Given the description of an element on the screen output the (x, y) to click on. 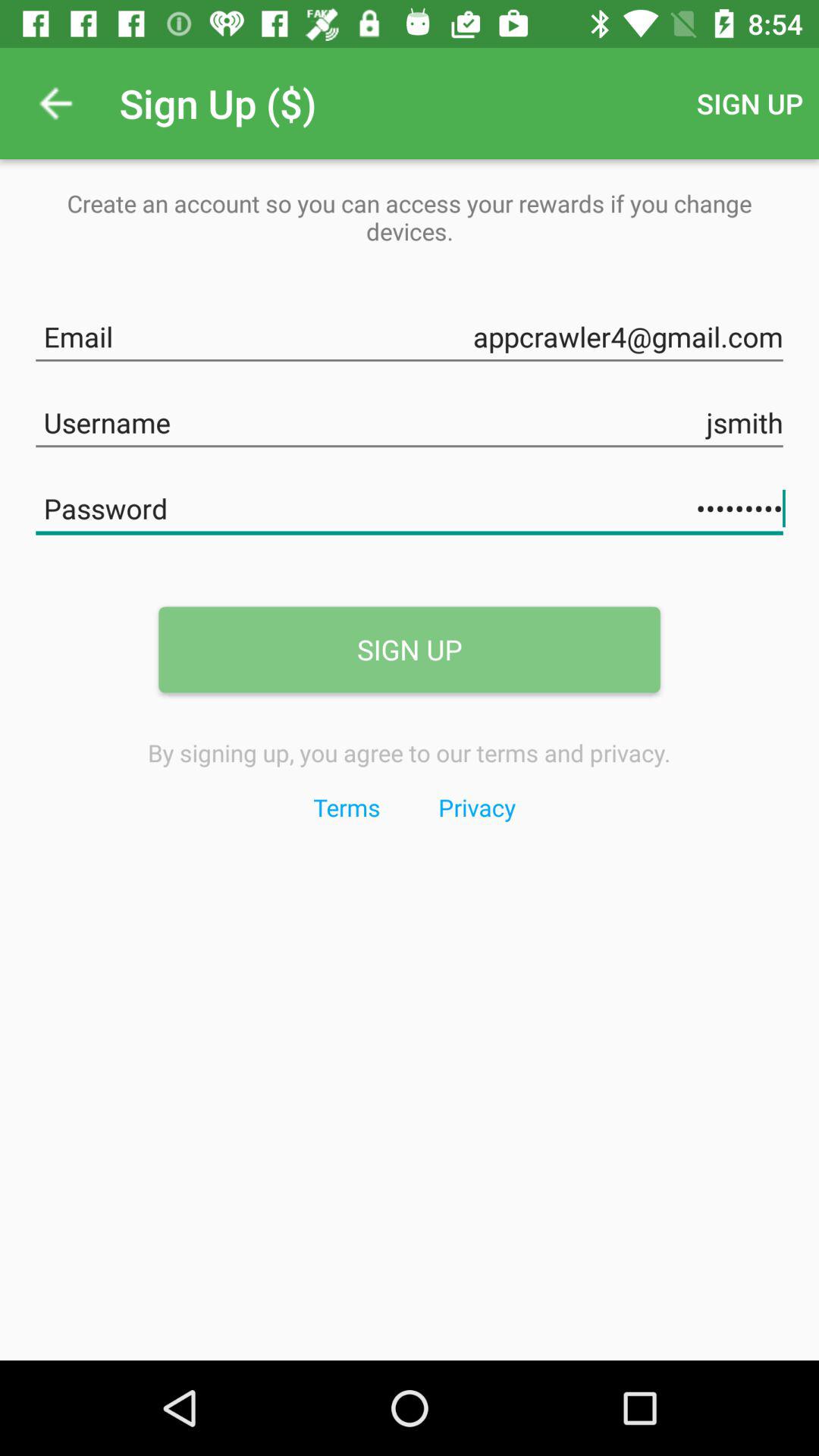
click on  privacy shown right to terms (476, 807)
select the text field which is below the username (409, 505)
select the text field which is above the password (409, 420)
click on email text field above username text field (409, 334)
